Given the description of an element on the screen output the (x, y) to click on. 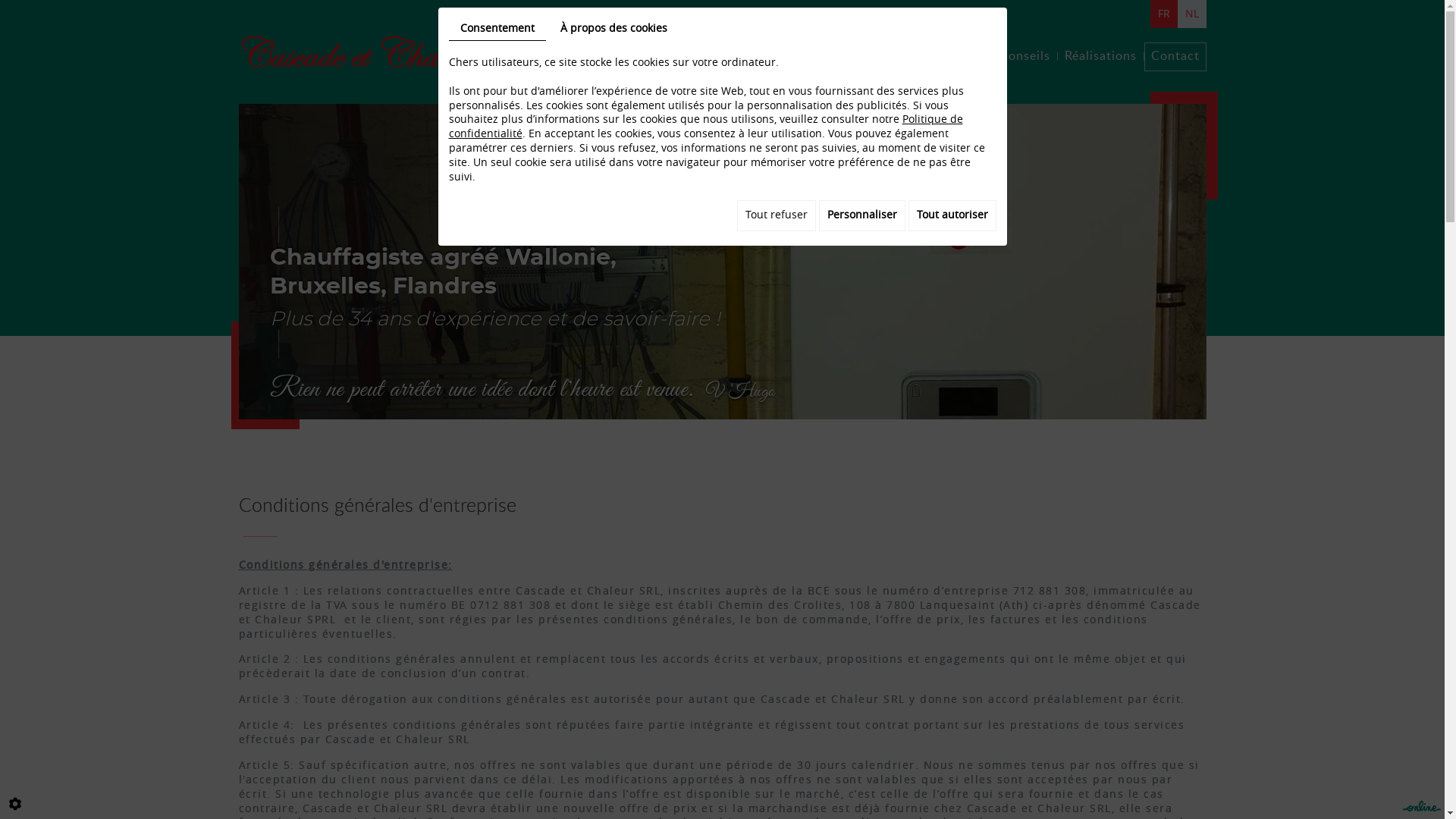
Personnaliser Element type: text (862, 215)
Consentement Element type: text (497, 29)
Conseils Element type: text (1023, 56)
Chauffage Element type: text (818, 56)
Tout refuser Element type: text (776, 215)
Accueil Element type: text (750, 56)
FR Element type: text (1162, 14)
Tutoriels Element type: text (958, 56)
Sanitaire Element type: text (890, 56)
Contact Element type: text (1174, 56)
Tout autoriser Element type: text (952, 215)
NL Element type: text (1190, 14)
